Given the description of an element on the screen output the (x, y) to click on. 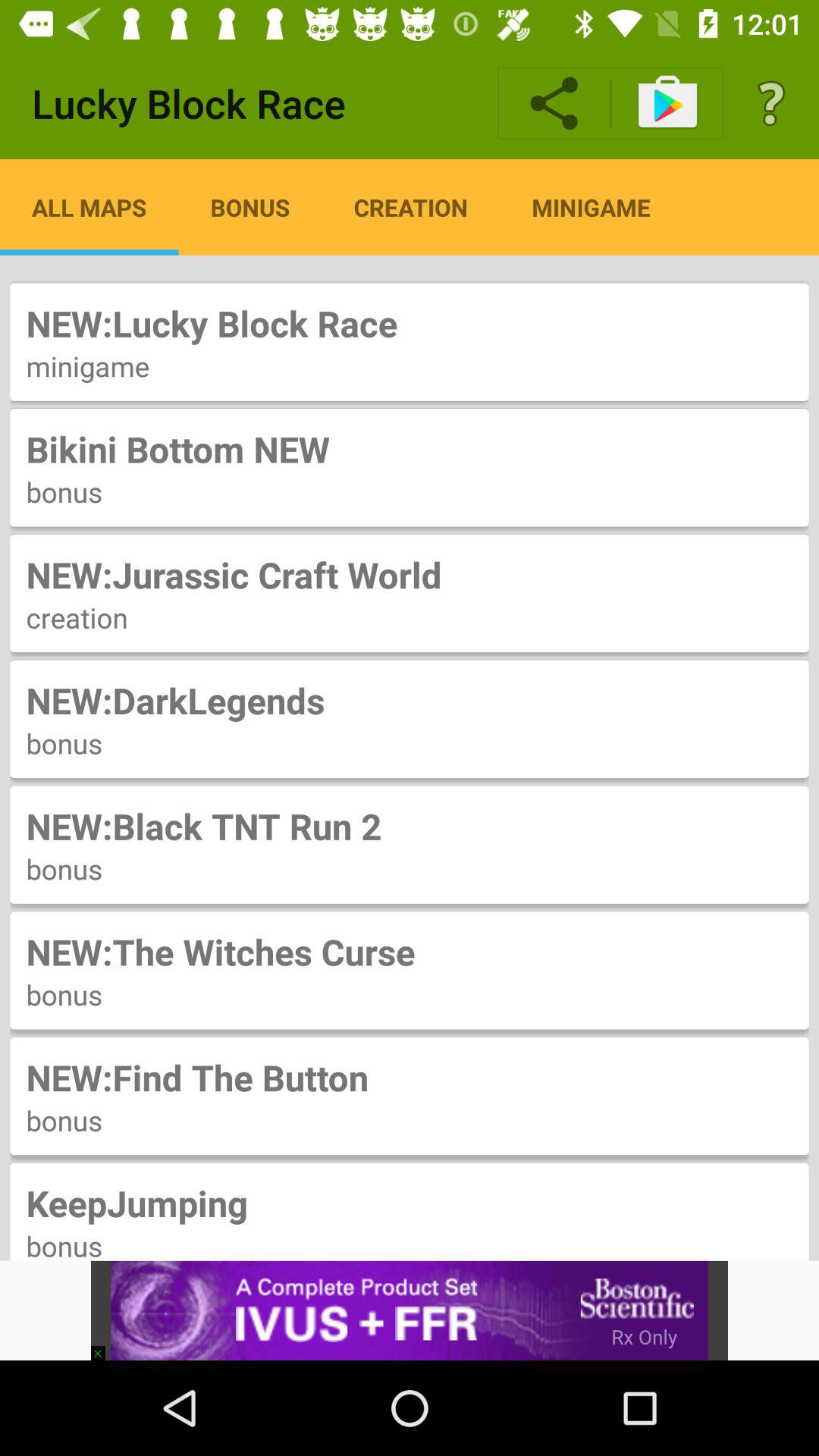
click the item below bonus (409, 1310)
